Given the description of an element on the screen output the (x, y) to click on. 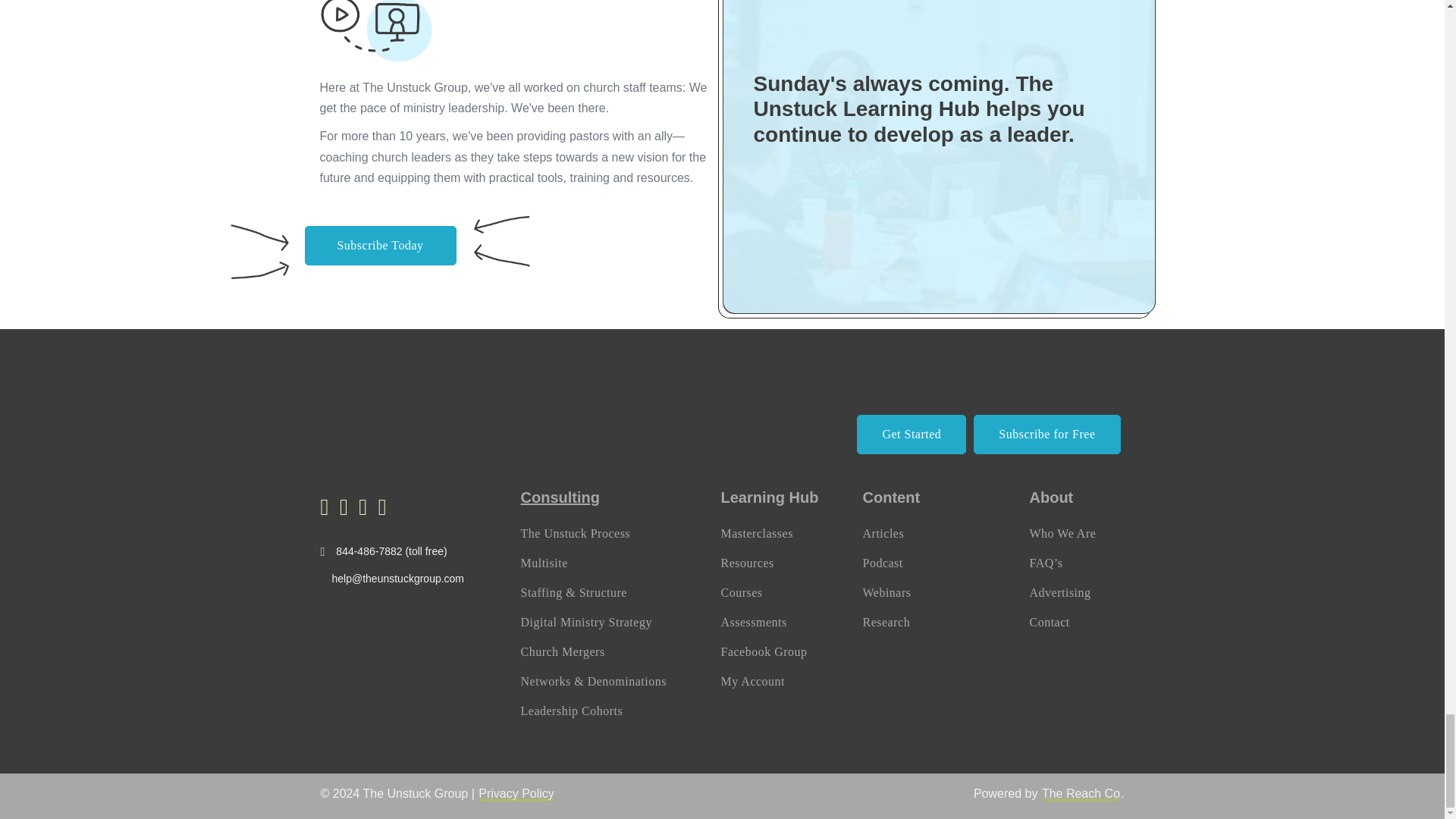
unstuck-group-light-logo (394, 415)
